Given the description of an element on the screen output the (x, y) to click on. 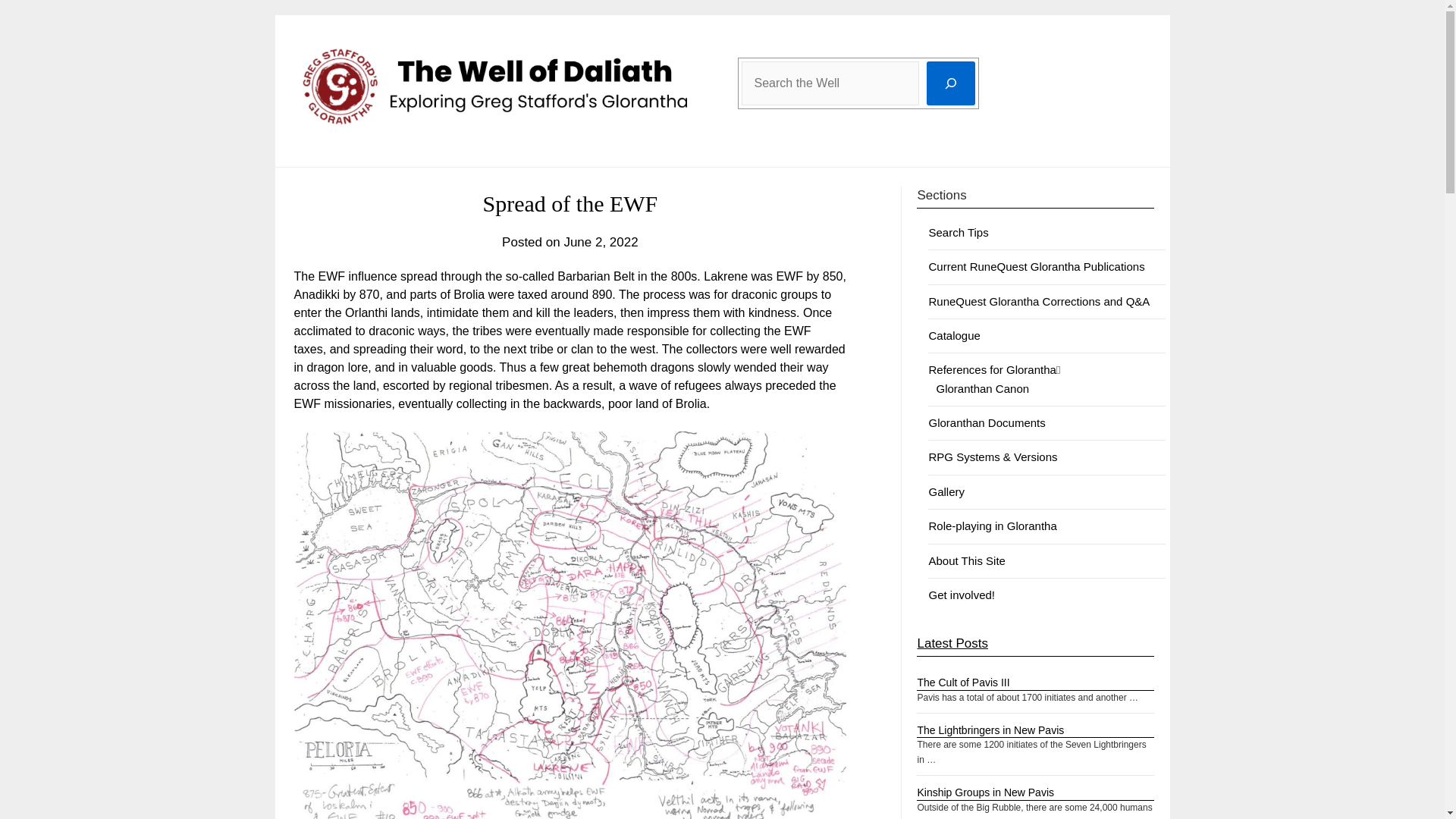
Gloranthan Canon (982, 388)
Get involved! (961, 594)
Role-playing in Glorantha (992, 525)
Latest Posts (952, 643)
The Cult of Pavis III (963, 682)
Current RuneQuest Glorantha Publications (1036, 266)
About This Site (966, 560)
Latest Posts (952, 643)
References for Glorantha (991, 369)
Gallery (945, 491)
Search Tips (958, 232)
The Lightbringers in New Pavis (990, 729)
Kinship Groups in New Pavis (985, 792)
Gloranthan Documents (986, 422)
Catalogue (953, 335)
